Given the description of an element on the screen output the (x, y) to click on. 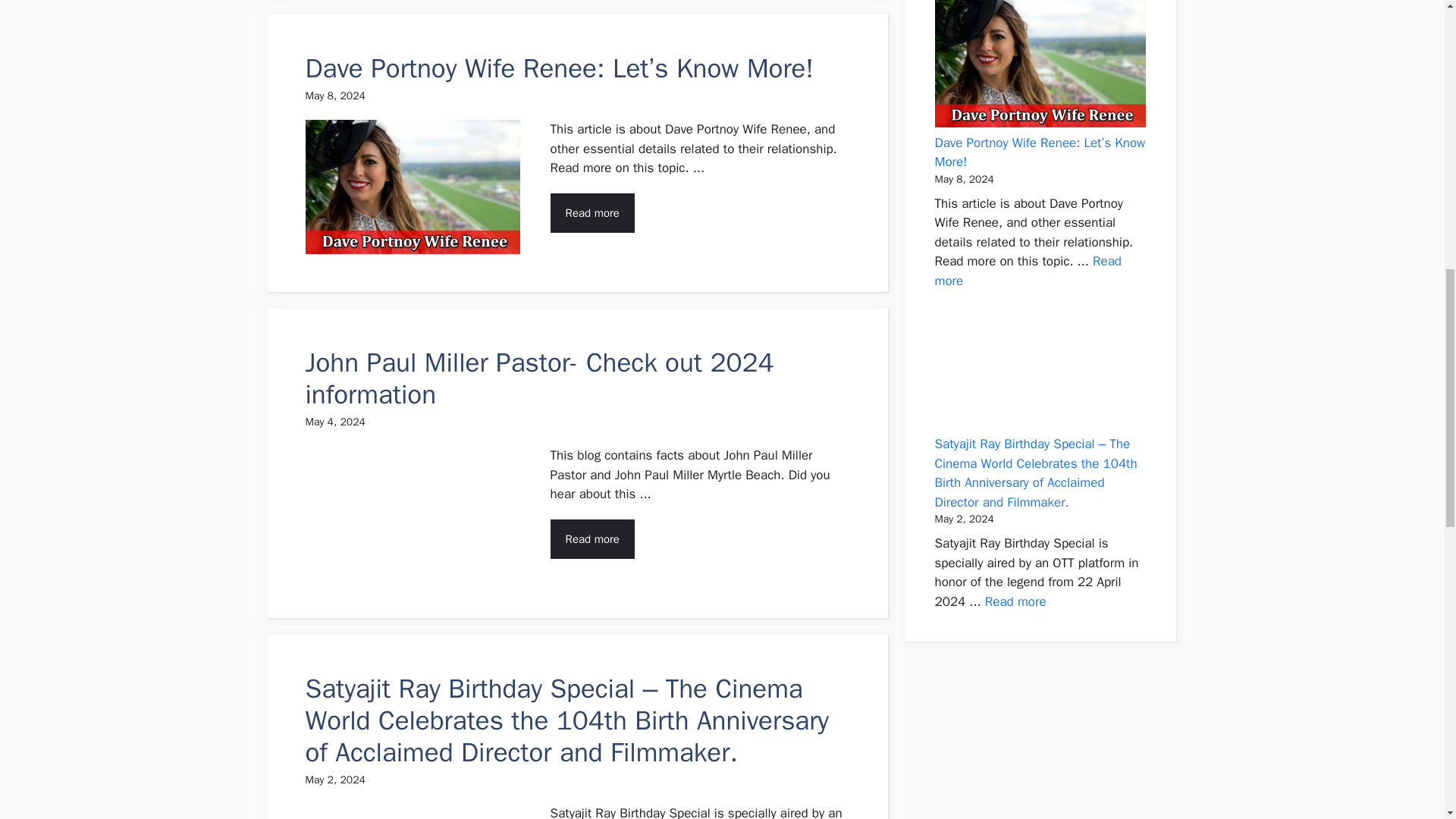
Read more (592, 213)
Read more (1015, 601)
Read more (592, 539)
John Paul Miller Pastor- Check out 2024 information (538, 378)
Read more (1027, 271)
